Given the description of an element on the screen output the (x, y) to click on. 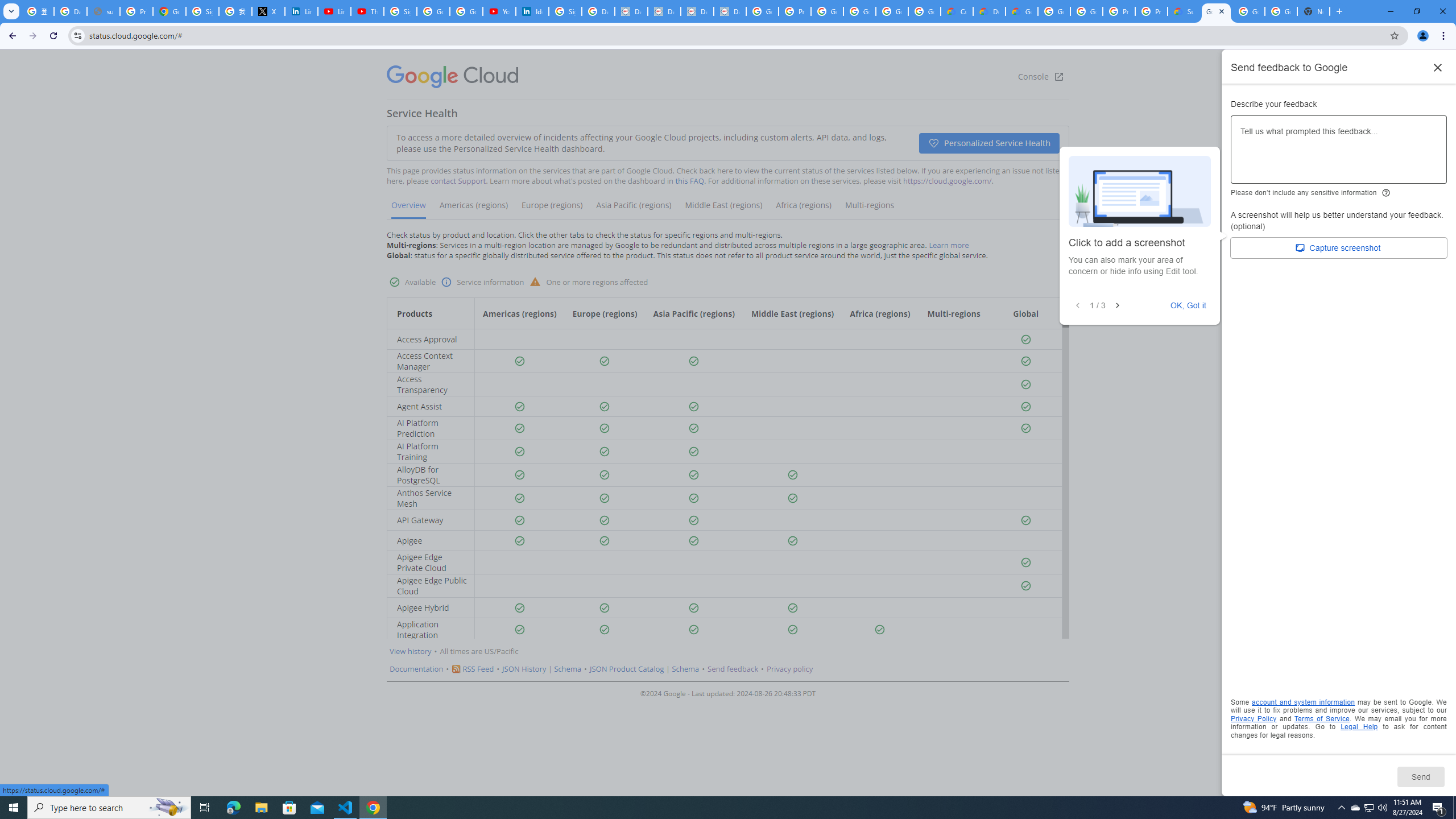
LinkedIn - YouTube (334, 11)
Identity verification via Persona | LinkedIn Help (532, 11)
Africa (regions) (803, 209)
Warning status (535, 281)
account and system information (1303, 702)
Opens in a new tab. Legal Help (1358, 727)
View history (410, 651)
Privacy Help Center - Policies Help (136, 11)
Google Workspace - Specific Terms (891, 11)
Customer Care | Google Cloud (957, 11)
JSON History (524, 668)
Asia Pacific (regions) (633, 209)
